Given the description of an element on the screen output the (x, y) to click on. 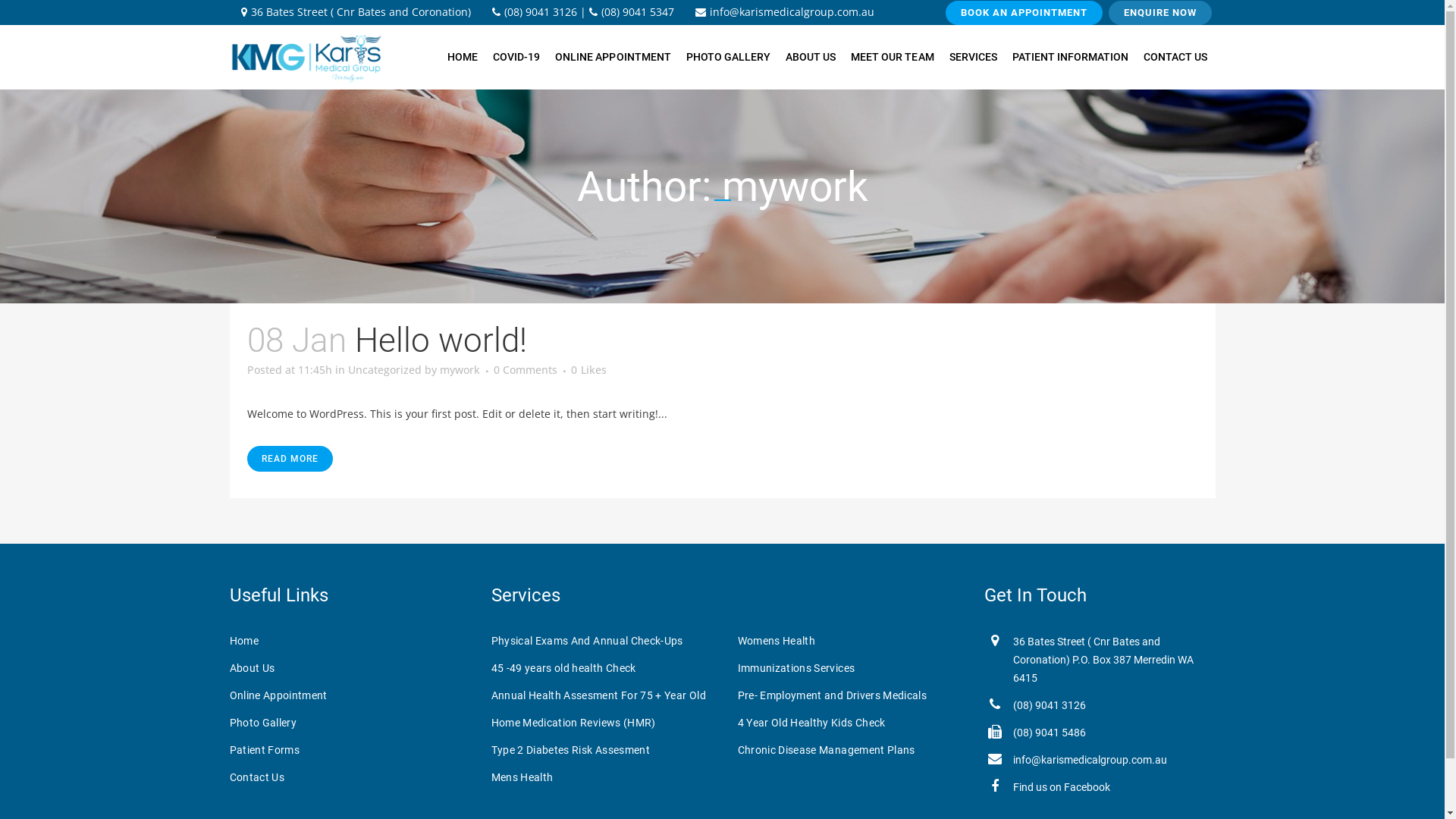
(08) 9041 5347 Element type: text (630, 11)
Immunizations Services Element type: text (850, 667)
Pre- Employment and Drivers Medicals Element type: text (850, 695)
info@karismedicalgroup.com.au Element type: text (783, 11)
COVID-19 Element type: text (516, 57)
45 -49 years old health Check Element type: text (603, 667)
Photo Gallery Element type: text (346, 722)
(08) 9041 3126 Element type: text (1049, 705)
Physical Exams And Annual Check-Ups Element type: text (603, 640)
MEET OUR TEAM Element type: text (892, 57)
Mens Health Element type: text (603, 776)
mywork Element type: text (459, 369)
Womens Health Element type: text (850, 640)
PHOTO GALLERY Element type: text (728, 57)
Uncategorized Element type: text (383, 369)
BOOK AN APPOINTMENT Element type: text (1022, 12)
Chronic Disease Management Plans Element type: text (850, 749)
ONLINE APPOINTMENT Element type: text (612, 57)
4 Year Old Healthy Kids Check Element type: text (850, 722)
PATIENT INFORMATION Element type: text (1069, 57)
About Us Element type: text (346, 667)
Hello world! Element type: text (440, 340)
info@karismedicalgroup.com.au Element type: text (1090, 759)
HOME Element type: text (462, 57)
0 Comments Element type: text (524, 369)
Annual Health Assesment For 75 + Year Old Element type: text (603, 695)
READ MORE Element type: text (289, 458)
Find us on Facebook Element type: text (1061, 787)
Patient Forms Element type: text (346, 749)
Online Appointment Element type: text (346, 695)
ENQUIRE NOW Element type: text (1159, 12)
(08) 9041 3126 Element type: text (533, 11)
SERVICES Element type: text (972, 57)
CONTACT US Element type: text (1174, 57)
Home Medication Reviews (HMR) Element type: text (603, 722)
ABOUT US Element type: text (810, 57)
Home Element type: text (346, 640)
Type 2 Diabetes Risk Assesment Element type: text (603, 749)
0 Likes Element type: text (587, 369)
Contact Us Element type: text (346, 776)
